Given the description of an element on the screen output the (x, y) to click on. 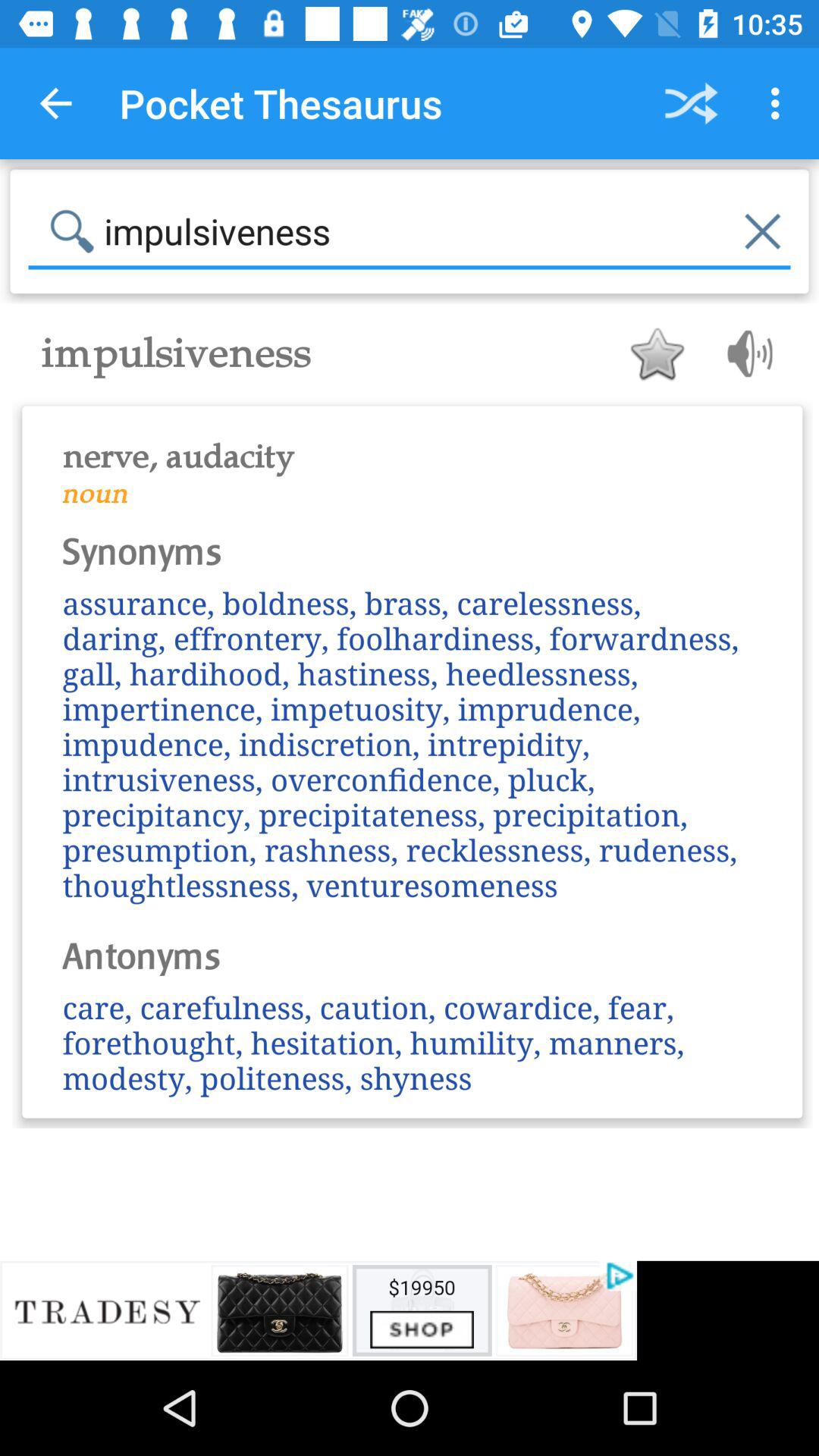
play audio (745, 353)
